Given the description of an element on the screen output the (x, y) to click on. 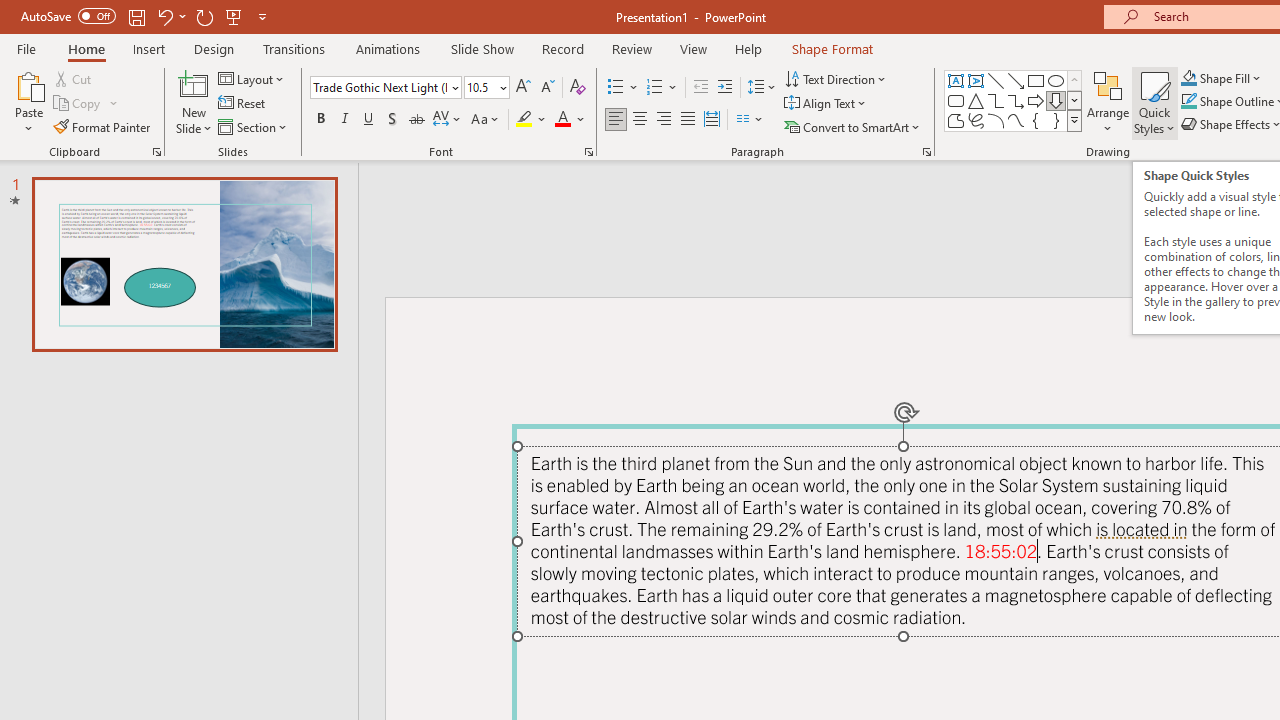
Underline (369, 119)
Cut (73, 78)
Text Highlight Color (531, 119)
Align Left (616, 119)
Increase Indent (725, 87)
Vertical Text Box (975, 80)
AutomationID: ShapesInsertGallery (1014, 100)
